Given the description of an element on the screen output the (x, y) to click on. 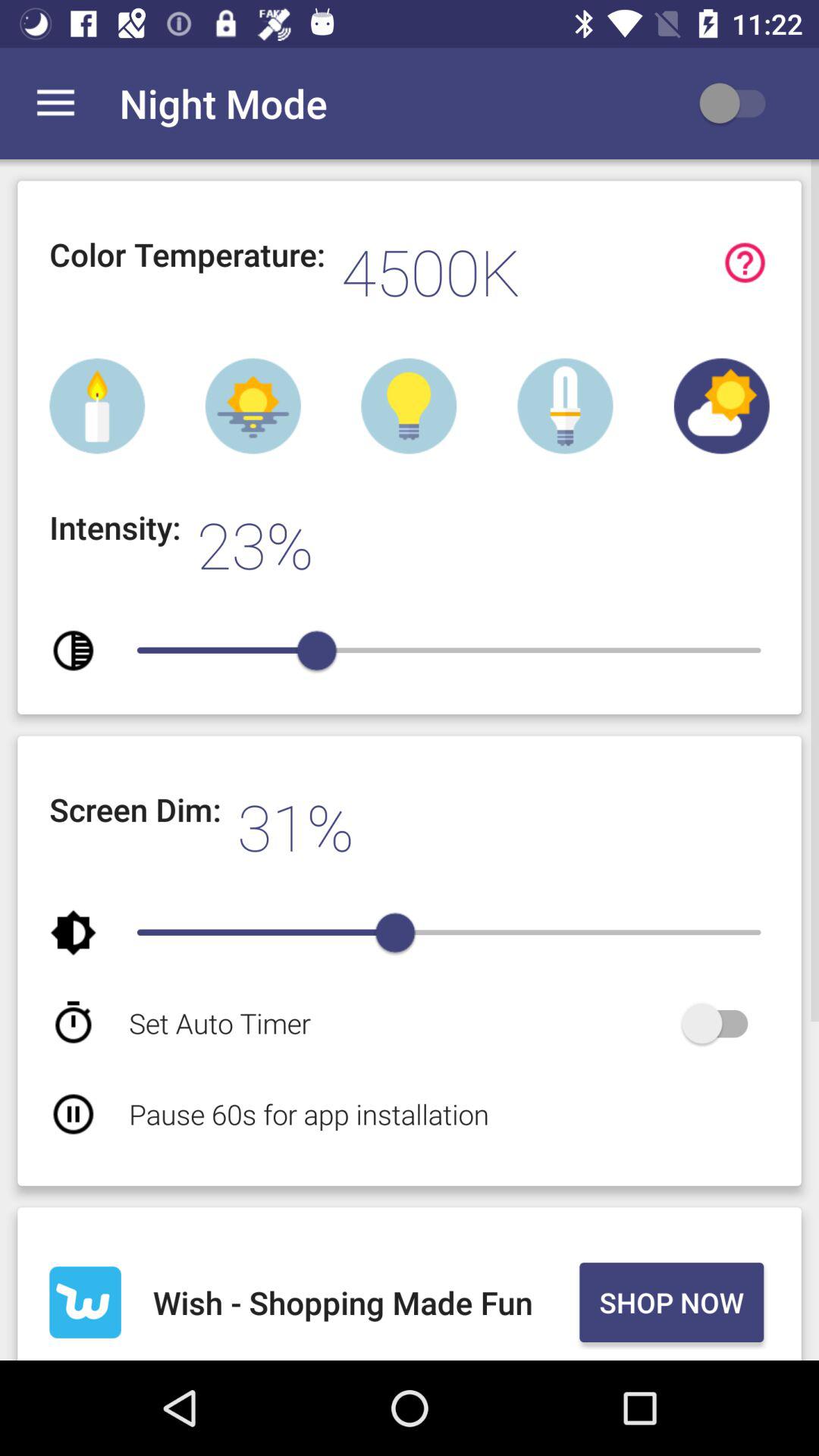
open icon next to the set auto timer (722, 1023)
